Given the description of an element on the screen output the (x, y) to click on. 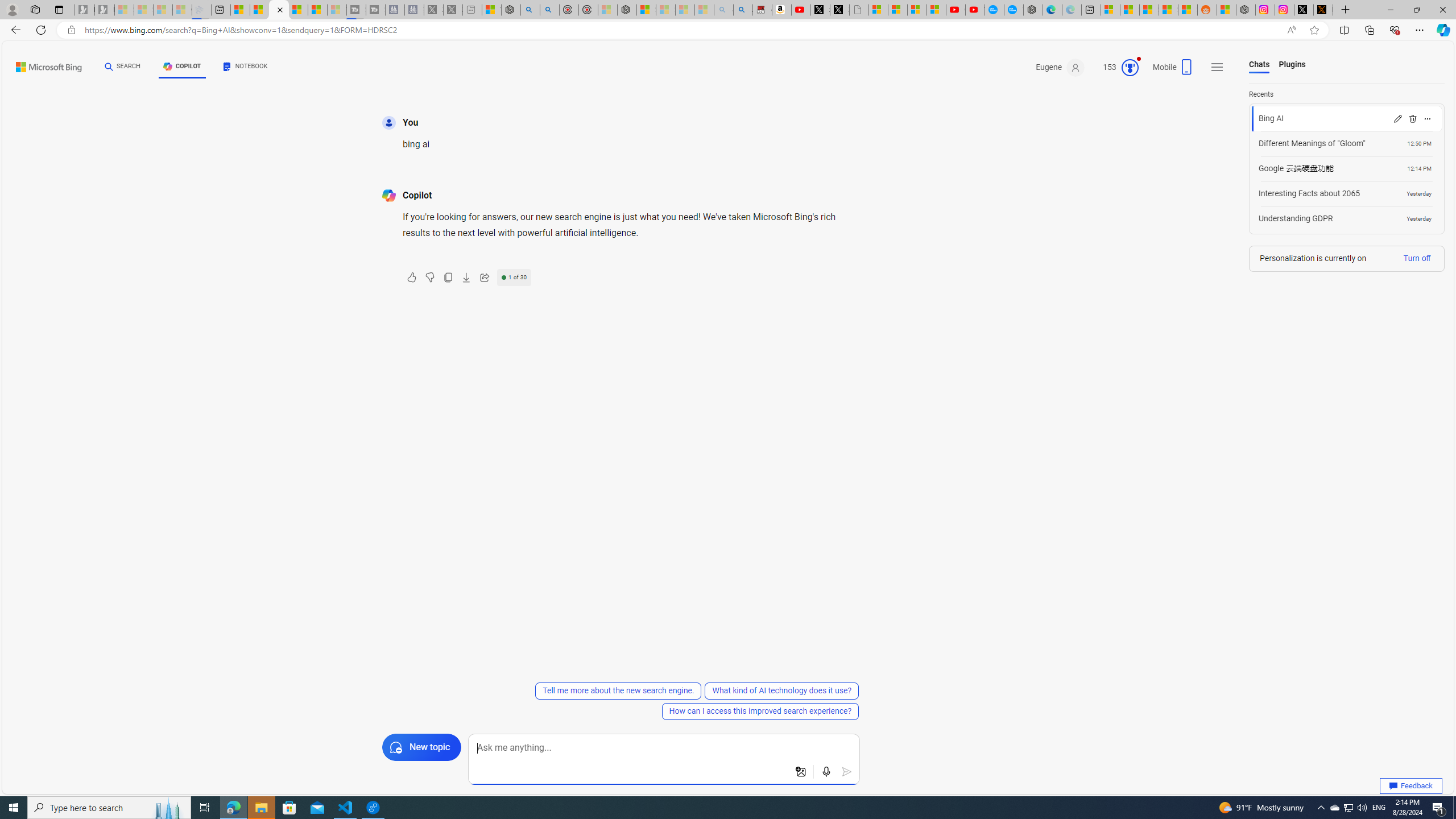
Ask me anything... (663, 748)
Shanghai, China Weather trends | Microsoft Weather (1187, 9)
COPILOT (181, 68)
